Given the description of an element on the screen output the (x, y) to click on. 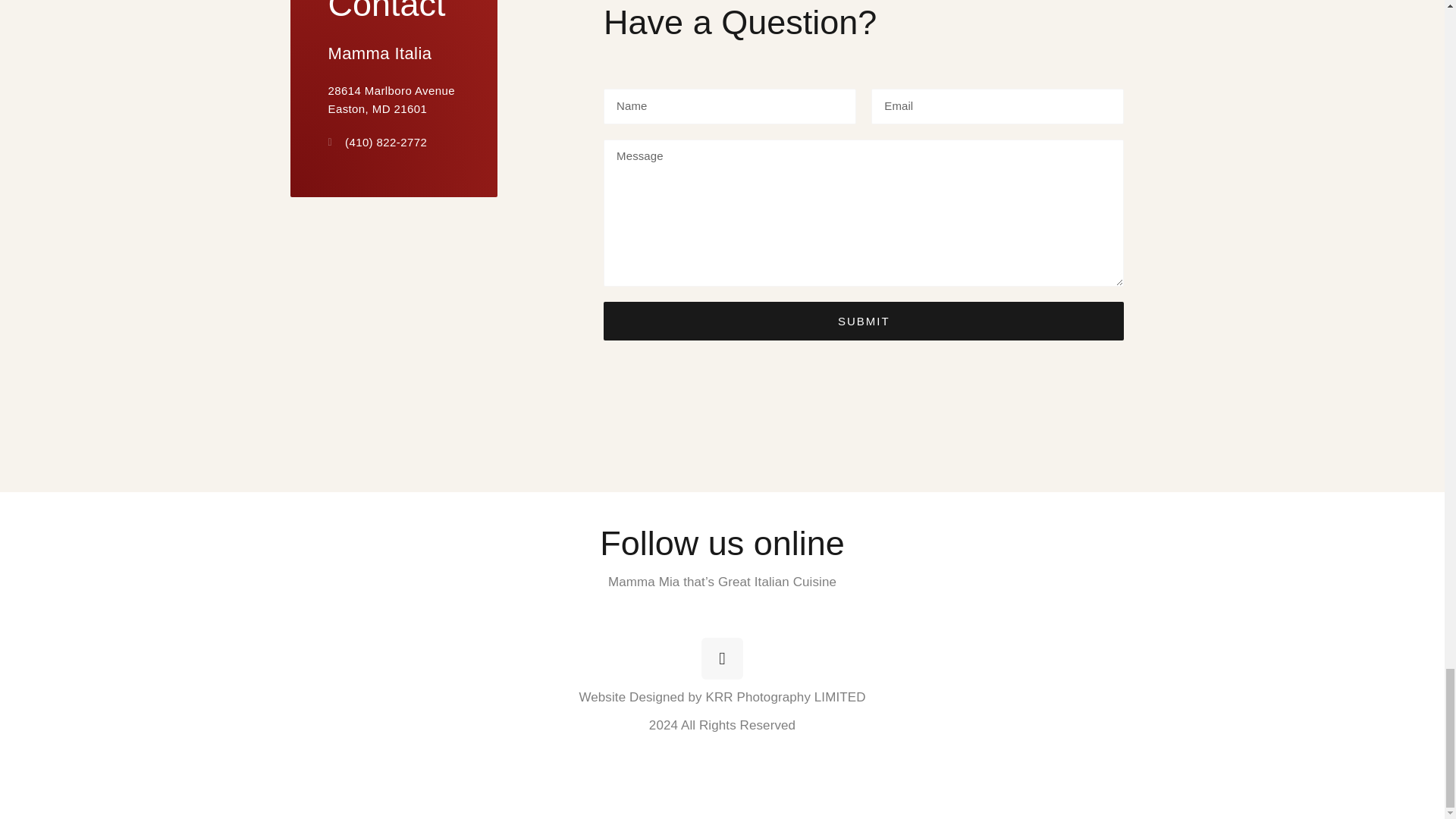
SUBMIT (864, 321)
2024 All Rights Reserved (721, 725)
Website Designed by KRR Photography LIMITED (721, 697)
